Given the description of an element on the screen output the (x, y) to click on. 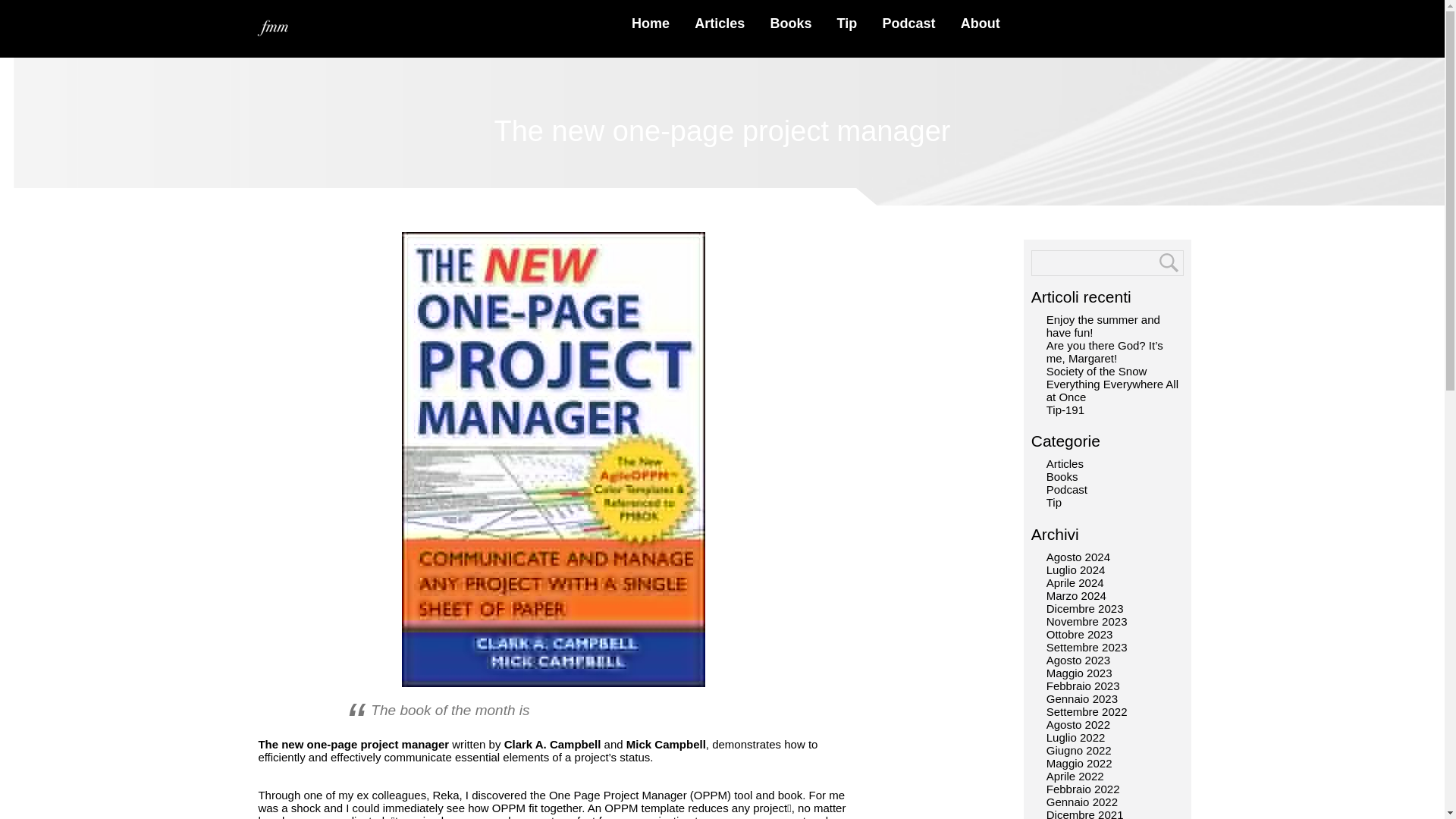
Everything Everywhere All at Once (1111, 390)
Podcast (908, 23)
Federico Massarotto Mason (273, 28)
Tip (1053, 502)
Ottobre 2023 (1079, 634)
Books (790, 23)
Home (650, 23)
Agosto 2023 (1077, 659)
Luglio 2024 (1075, 569)
Dicembre 2023 (1085, 608)
